Given the description of an element on the screen output the (x, y) to click on. 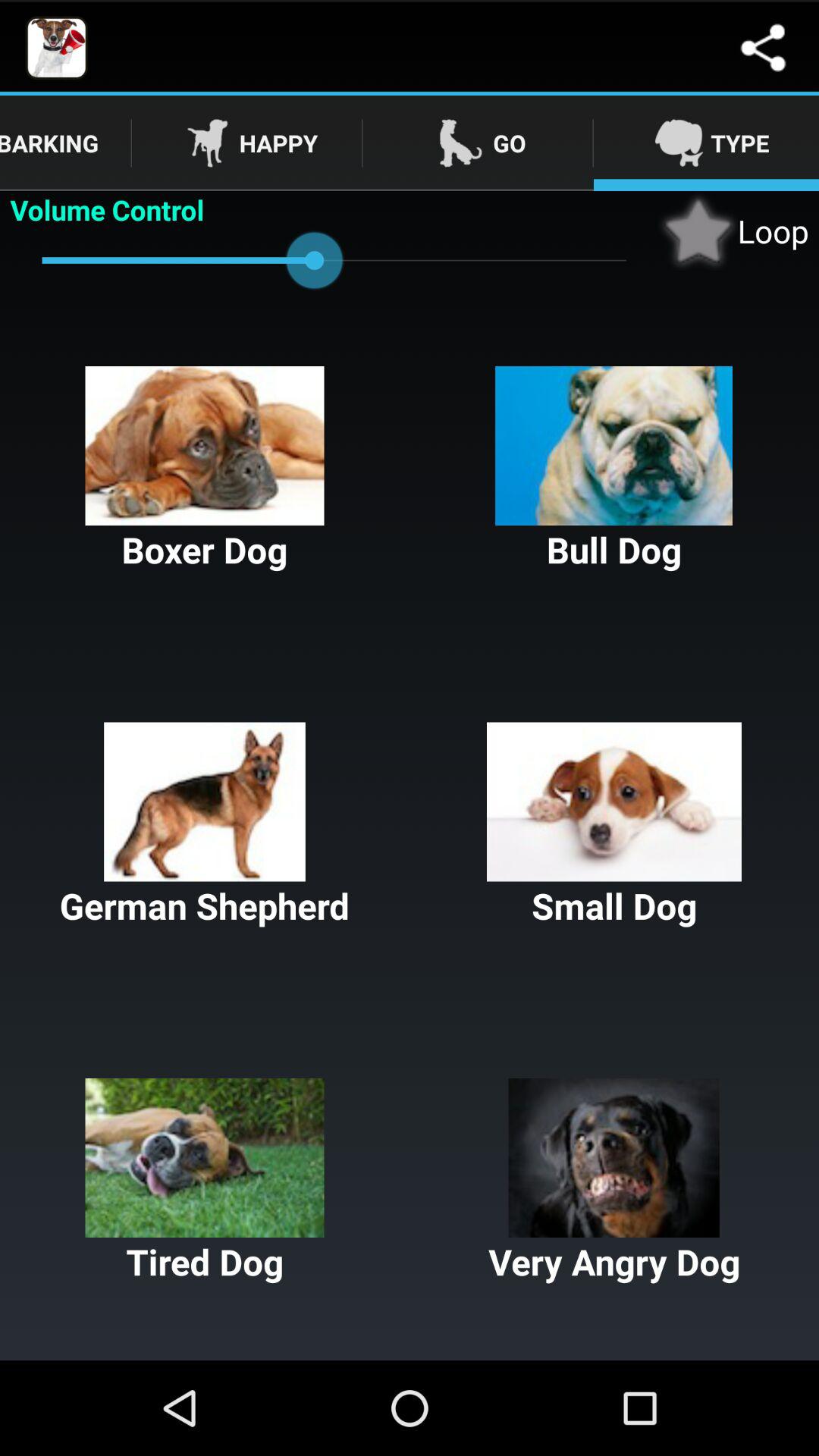
scroll to the bull dog item (614, 469)
